Given the description of an element on the screen output the (x, y) to click on. 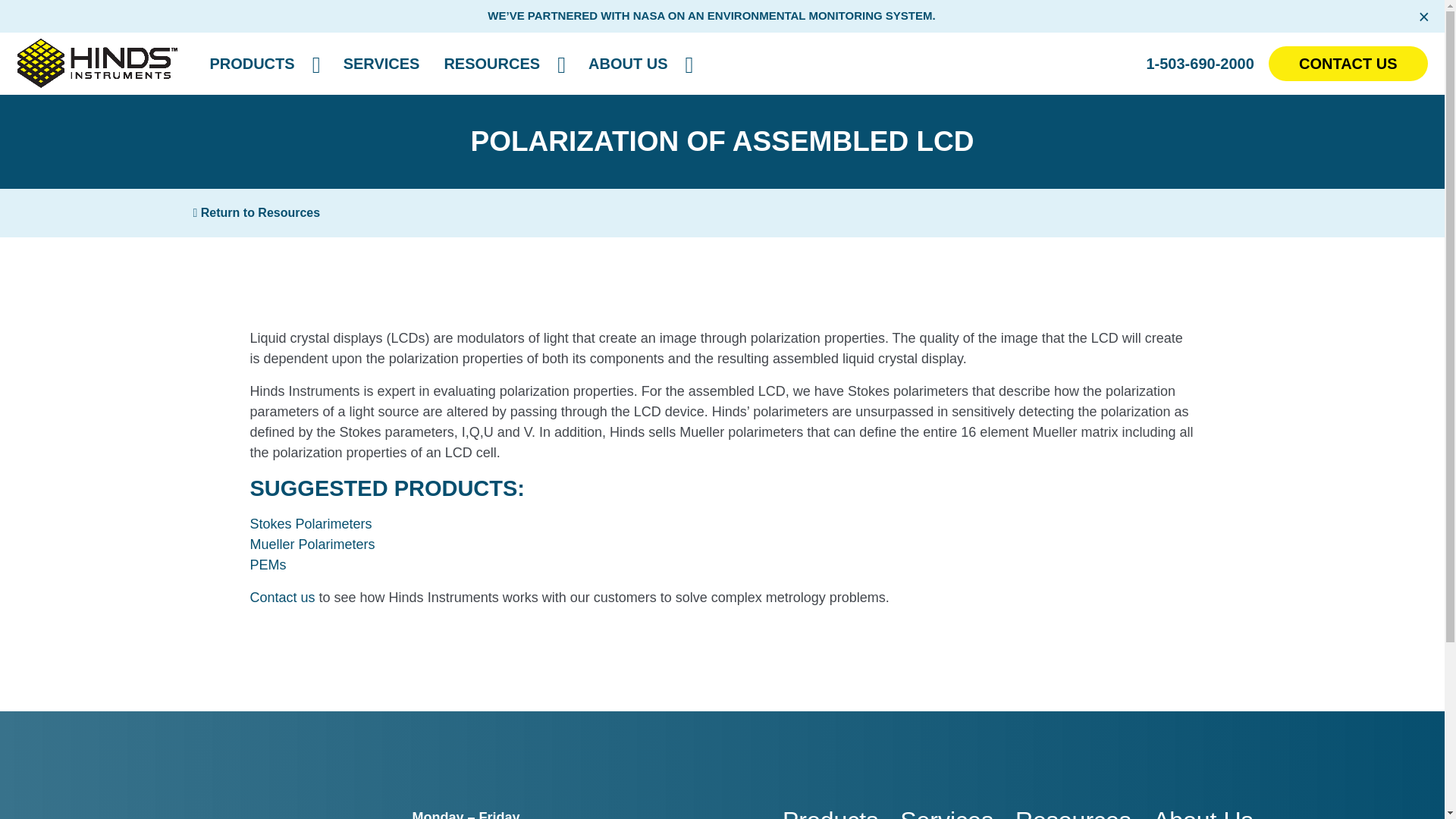
PRODUCTS (251, 62)
1-503-690-2000 (1199, 62)
ABOUT US (627, 62)
SERVICES (381, 62)
Services (381, 62)
RESOURCES (492, 62)
CONTACT US (1348, 62)
Products (251, 62)
Resources (492, 62)
